Given the description of an element on the screen output the (x, y) to click on. 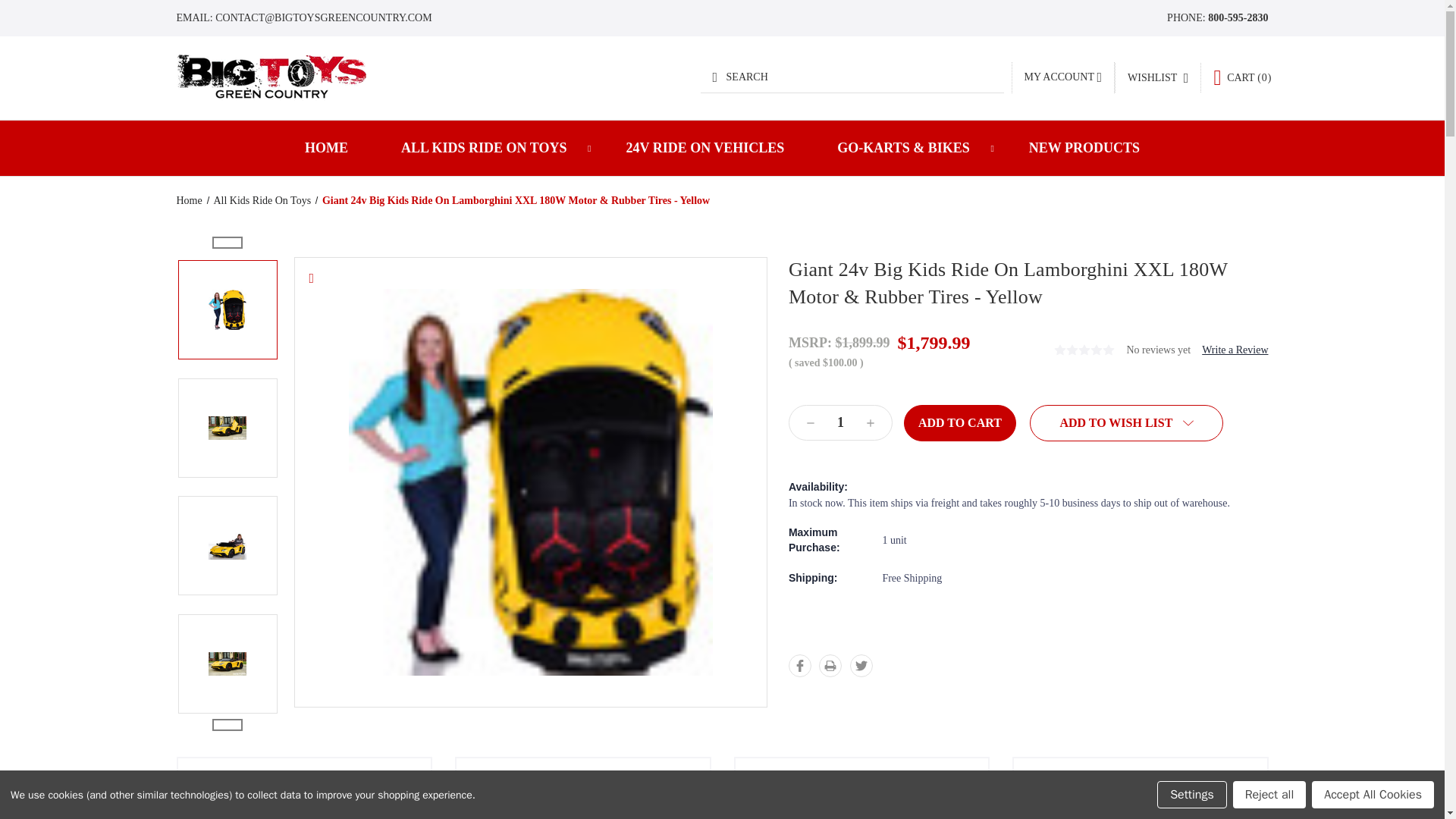
1 (840, 422)
Big Toys Green Country (270, 77)
CART 0 (1241, 77)
SEARCH (852, 77)
HOME (326, 148)
800-595-2830 (1238, 17)
ALL KIDS RIDE ON TOYS (486, 148)
MY ACCOUNT (1062, 77)
24V RIDE ON VEHICLES (704, 148)
WISHLIST (1157, 78)
Add to Cart (960, 422)
NEW PRODUCTS (1084, 148)
